Given the description of an element on the screen output the (x, y) to click on. 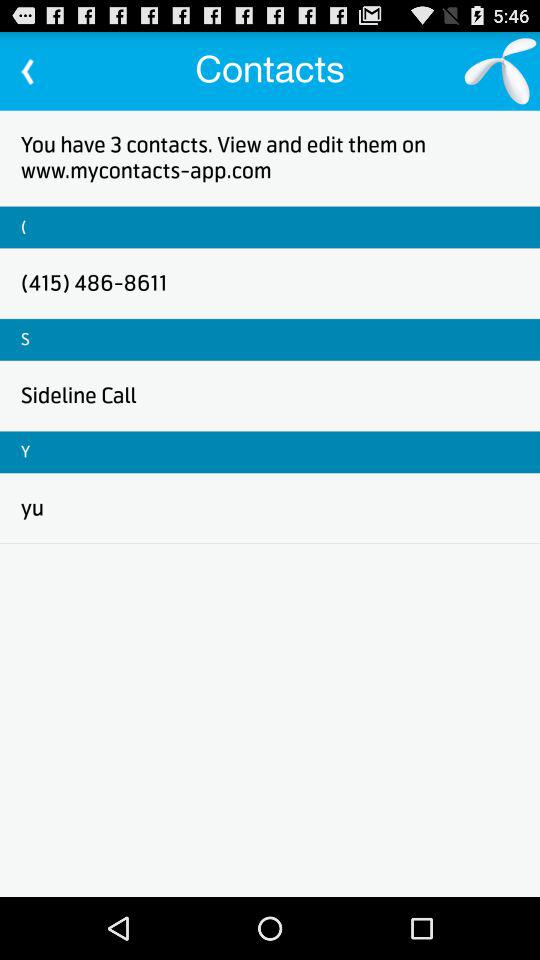
press item above the (415) 486-8611 icon (23, 226)
